Given the description of an element on the screen output the (x, y) to click on. 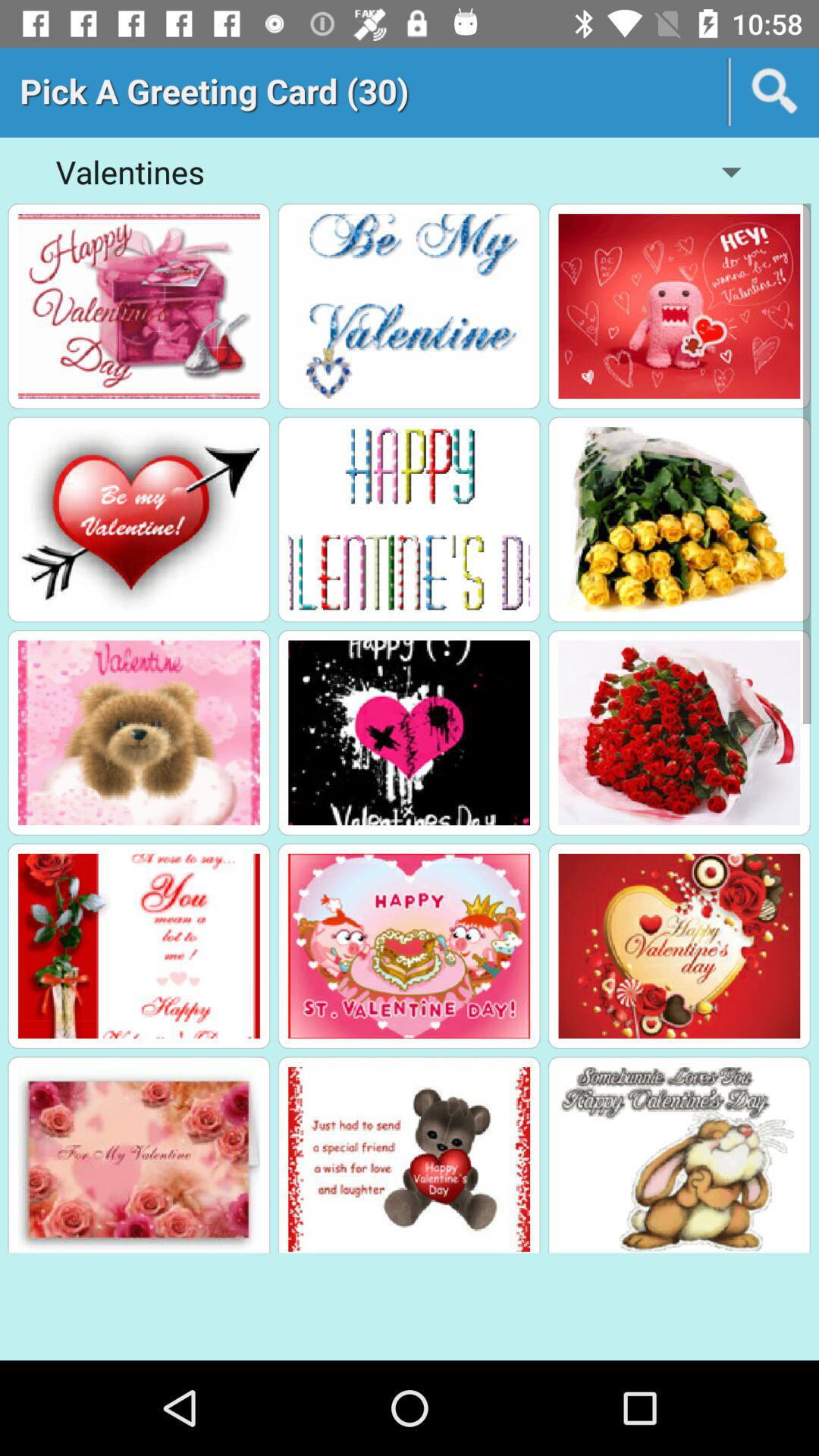
see the details (138, 945)
